Given the description of an element on the screen output the (x, y) to click on. 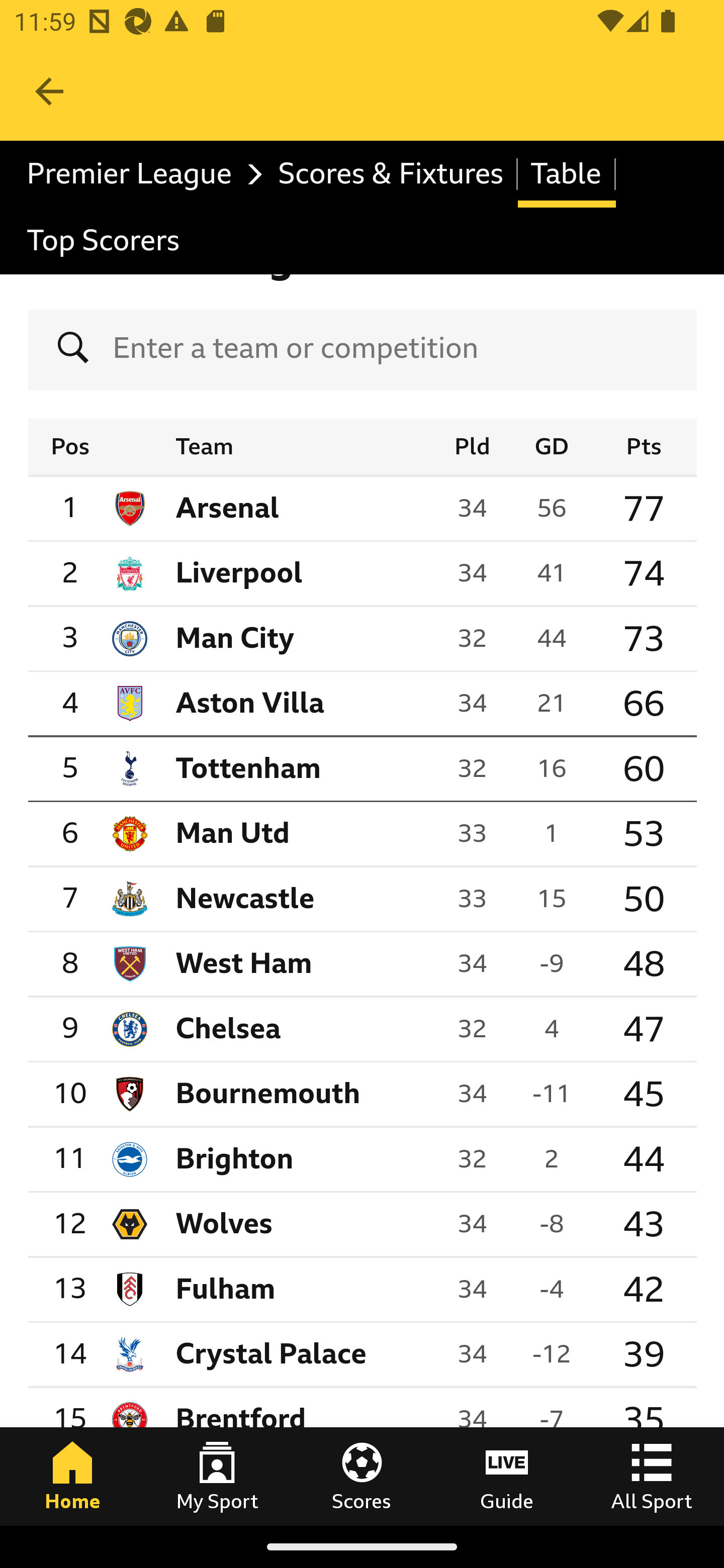
Navigate up (49, 91)
Premier League (140, 173)
Scores & Fixtures (391, 173)
Table (567, 173)
Top Scorers (103, 240)
Arsenal (212, 508)
Liverpool (224, 573)
Manchester City (220, 638)
Aston Villa (235, 703)
Tottenham Hotspur (233, 768)
Manchester United (217, 834)
Newcastle United (229, 898)
West Ham United (229, 965)
Chelsea (213, 1028)
AFC Bournemouth (252, 1094)
Brighton & Hove Albion (219, 1159)
Wolverhampton Wanderers (208, 1224)
Fulham (210, 1289)
Crystal Palace (256, 1355)
My Sport (216, 1475)
Scores (361, 1475)
Guide (506, 1475)
All Sport (651, 1475)
